Given the description of an element on the screen output the (x, y) to click on. 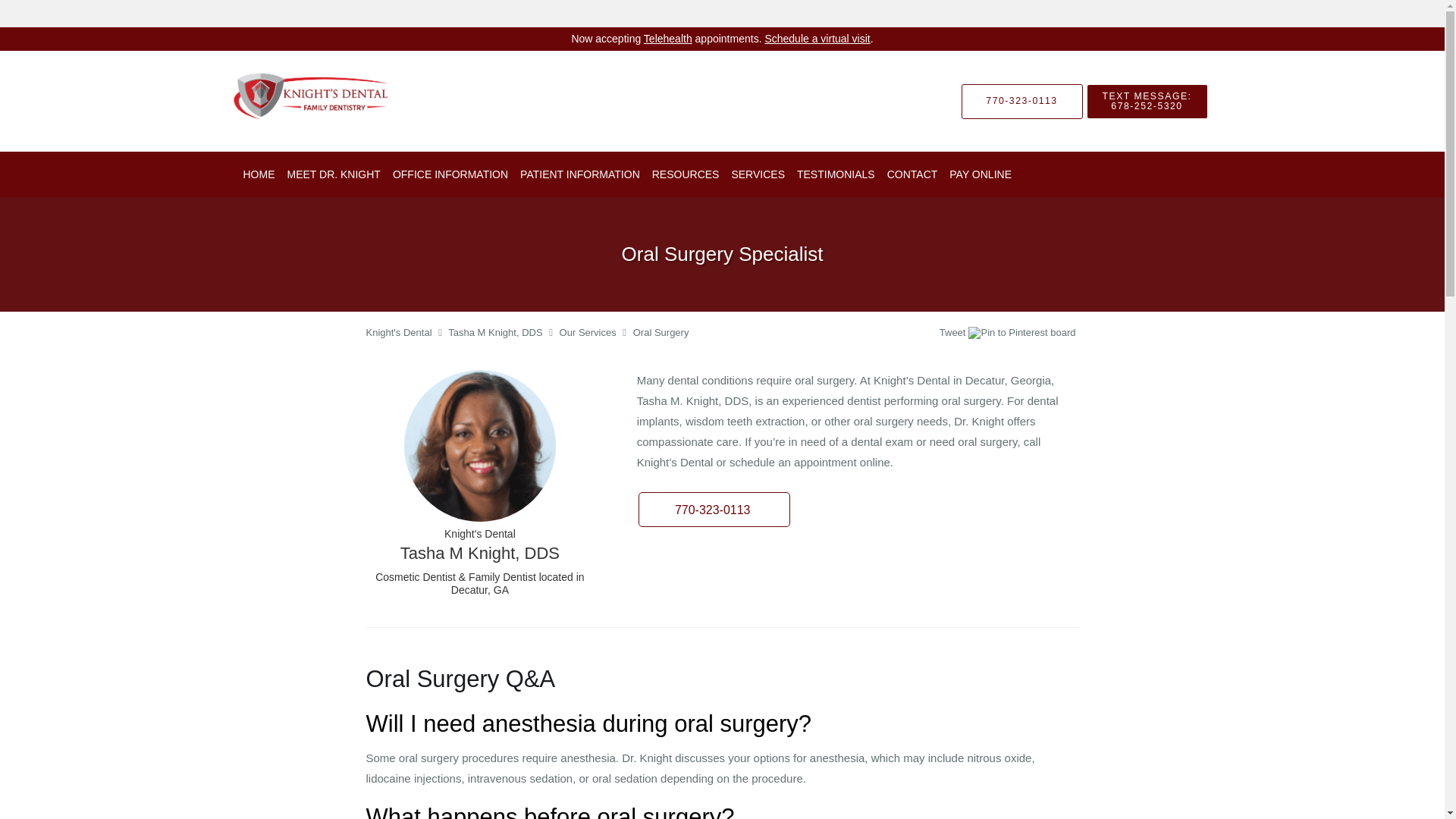
MEET DR. KNIGHT (333, 174)
770-323-0113 (1021, 100)
Facebook social button (880, 334)
OFFICE INFORMATION (450, 174)
TESTIMONIALS (835, 174)
Schedule a virtual visit (816, 38)
SERVICES (757, 174)
RESOURCES (685, 174)
HOME (258, 174)
PATIENT INFORMATION (579, 174)
Telehealth (668, 38)
TEXT MESSAGE: 678-252-5320 (1146, 100)
